Given the description of an element on the screen output the (x, y) to click on. 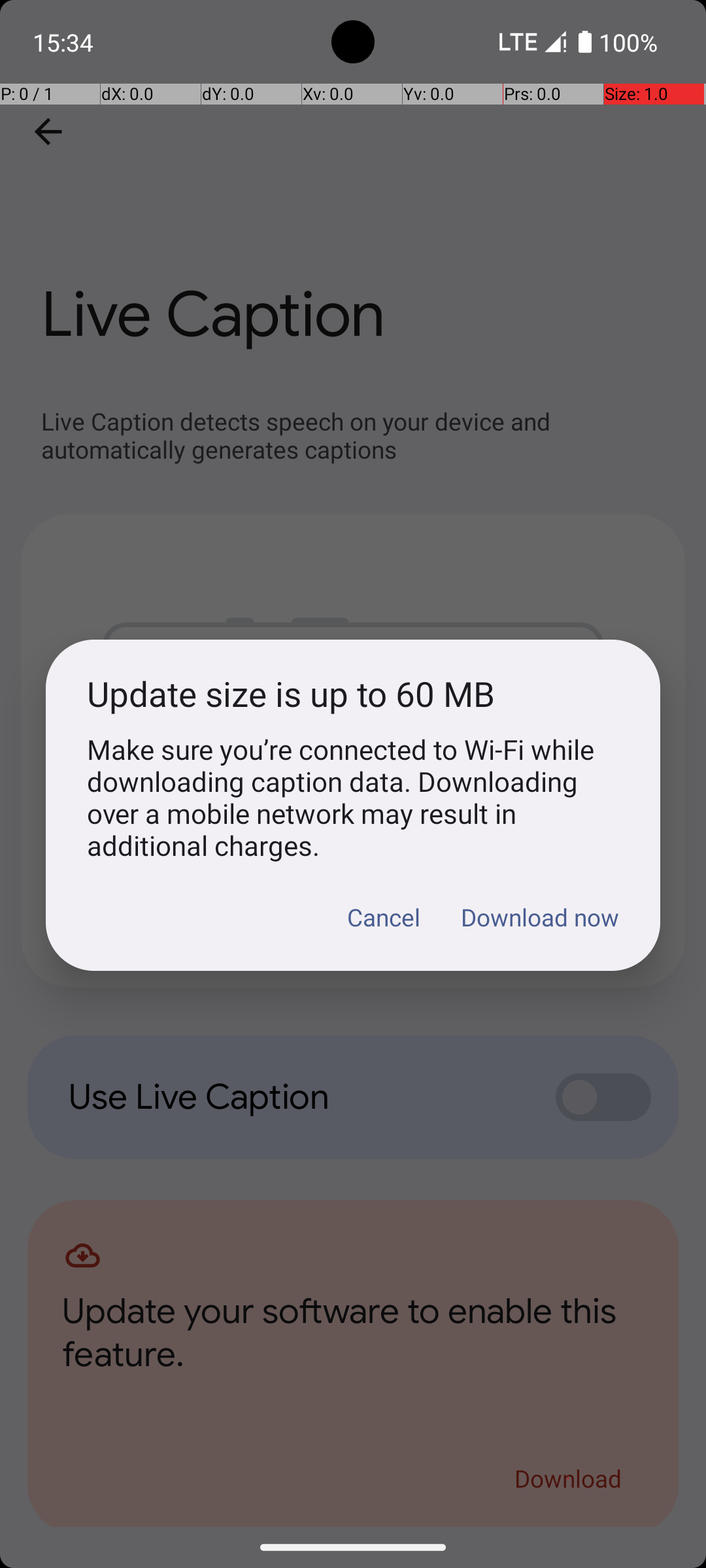
Update size is up to 60 MB Element type: android.widget.TextView (352, 693)
Make sure you’re connected to Wi-Fi while downloading caption data. Downloading over a mobile network may result in additional charges. Element type: android.widget.TextView (352, 796)
Download now Element type: android.widget.Button (539, 916)
